Given the description of an element on the screen output the (x, y) to click on. 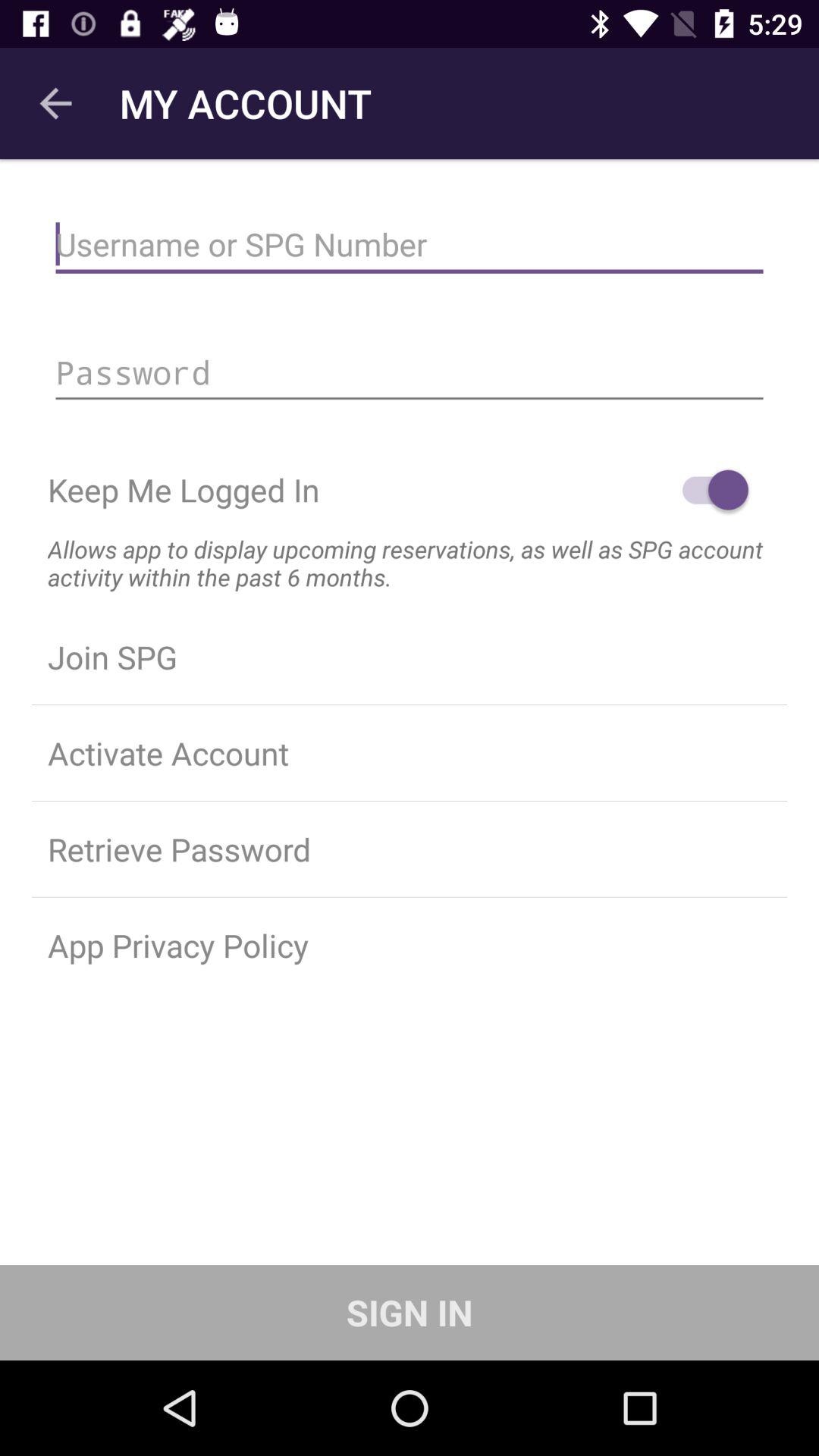
toggle stay logged in option (707, 489)
